Given the description of an element on the screen output the (x, y) to click on. 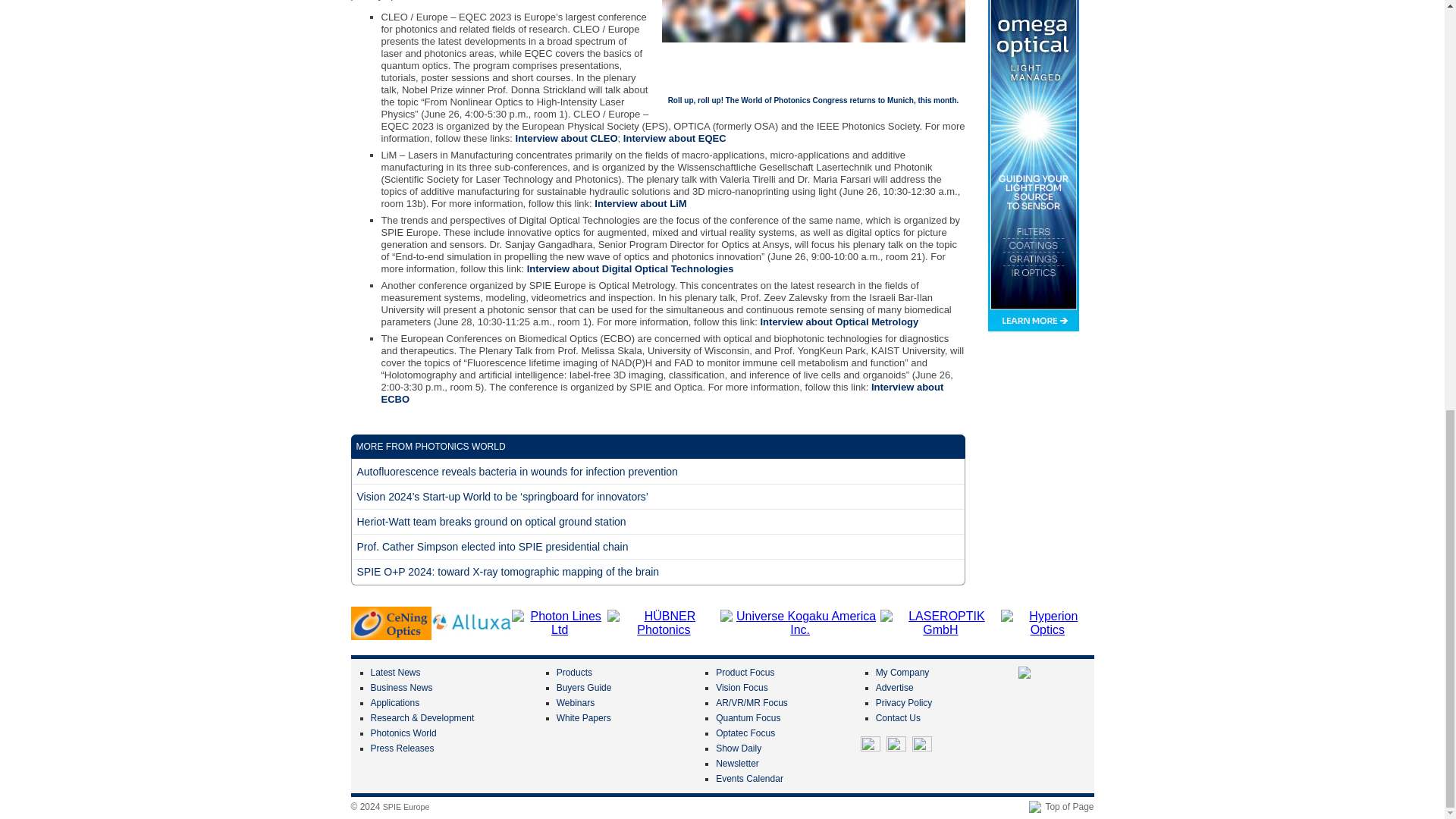
LinkedIn (895, 745)
Twitter (870, 745)
RSS Feeds (921, 745)
